Given the description of an element on the screen output the (x, y) to click on. 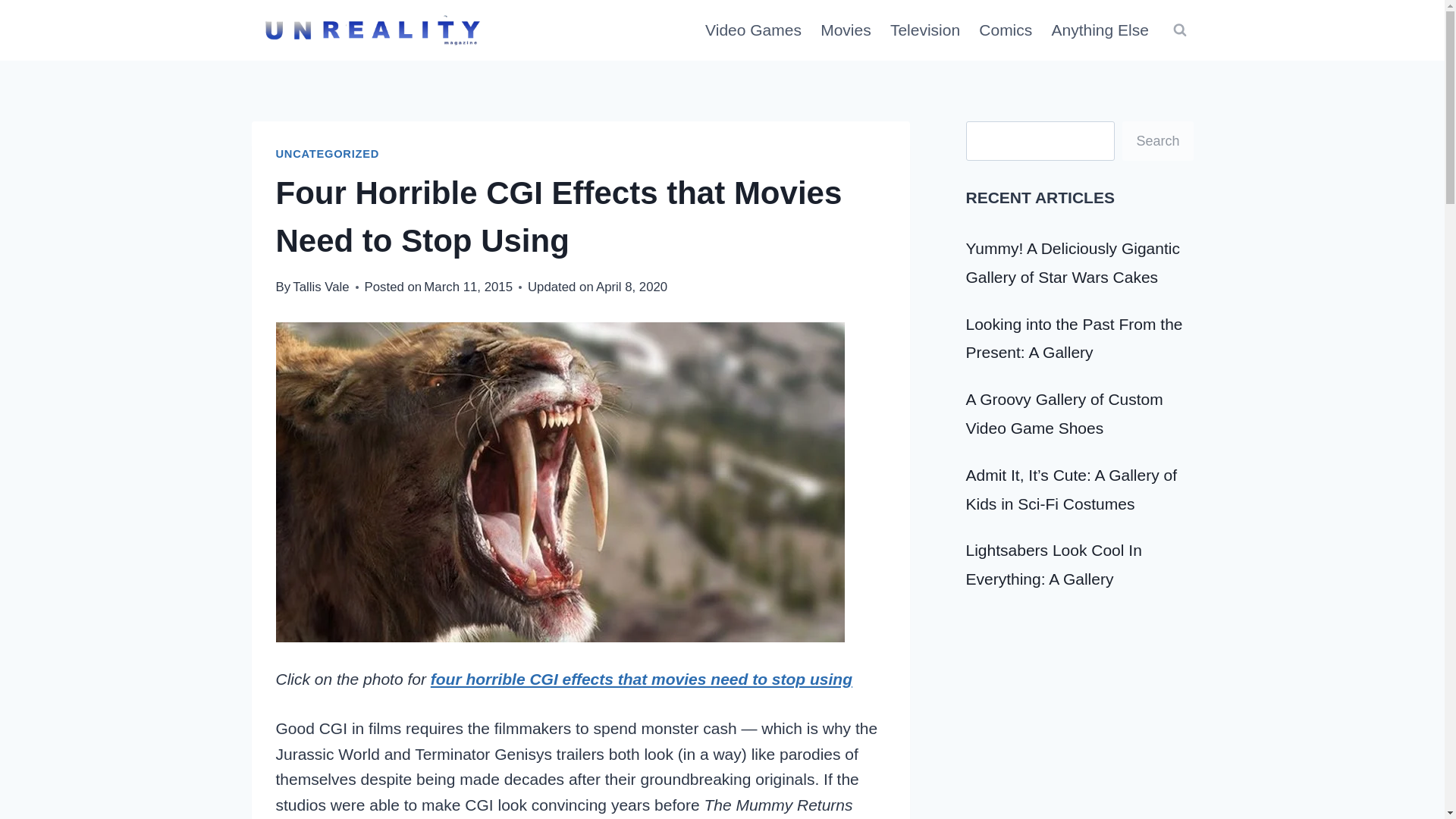
Tallis Vale (320, 287)
Anything Else (1100, 30)
Video Games (752, 30)
Movies (845, 30)
four horrible CGI effects that movies need to stop using (640, 678)
Comics (1005, 30)
UNCATEGORIZED (328, 153)
Television (924, 30)
